Given the description of an element on the screen output the (x, y) to click on. 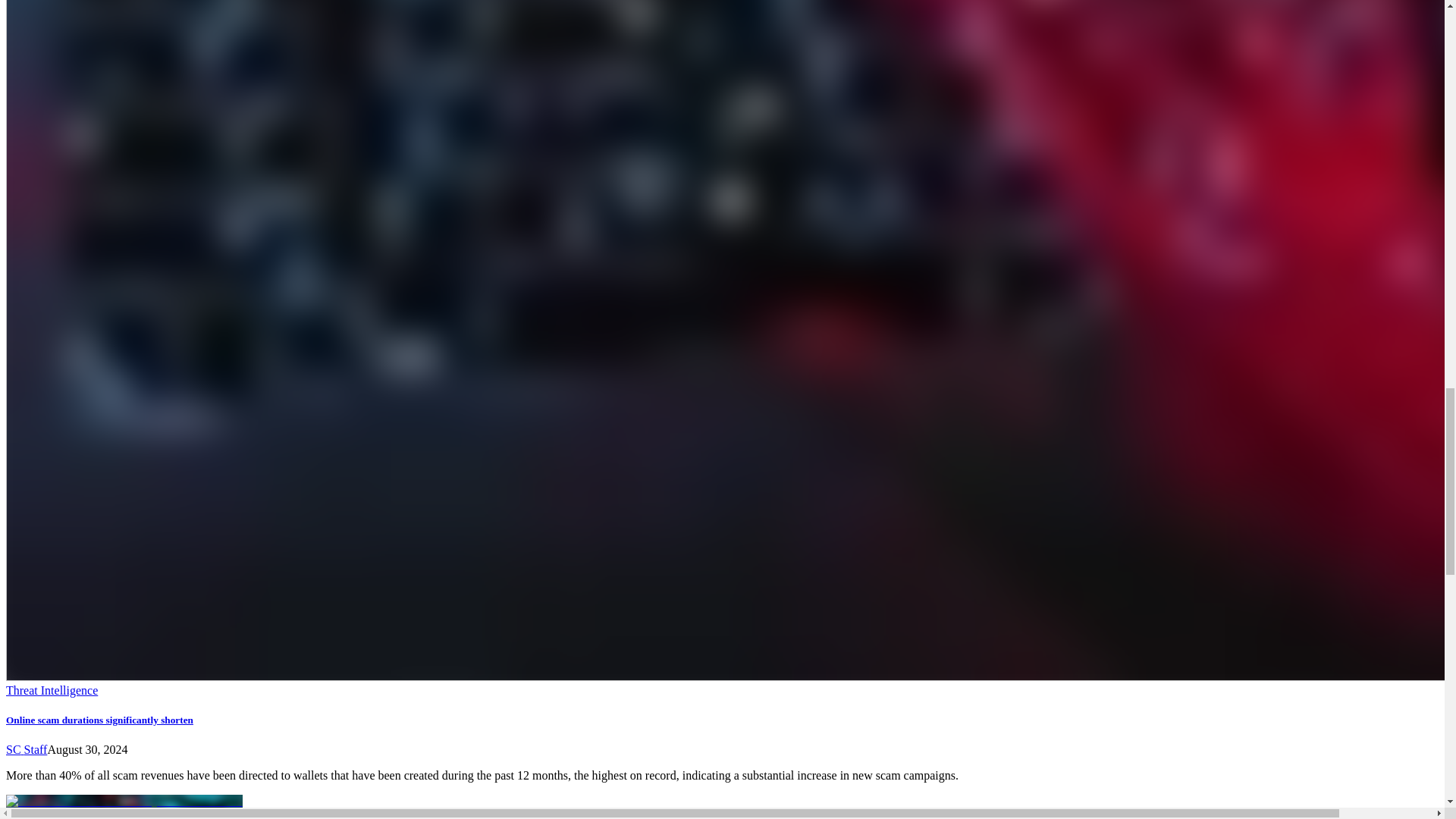
SC Staff (25, 748)
Threat Intelligence (51, 689)
Malware (27, 813)
